Given the description of an element on the screen output the (x, y) to click on. 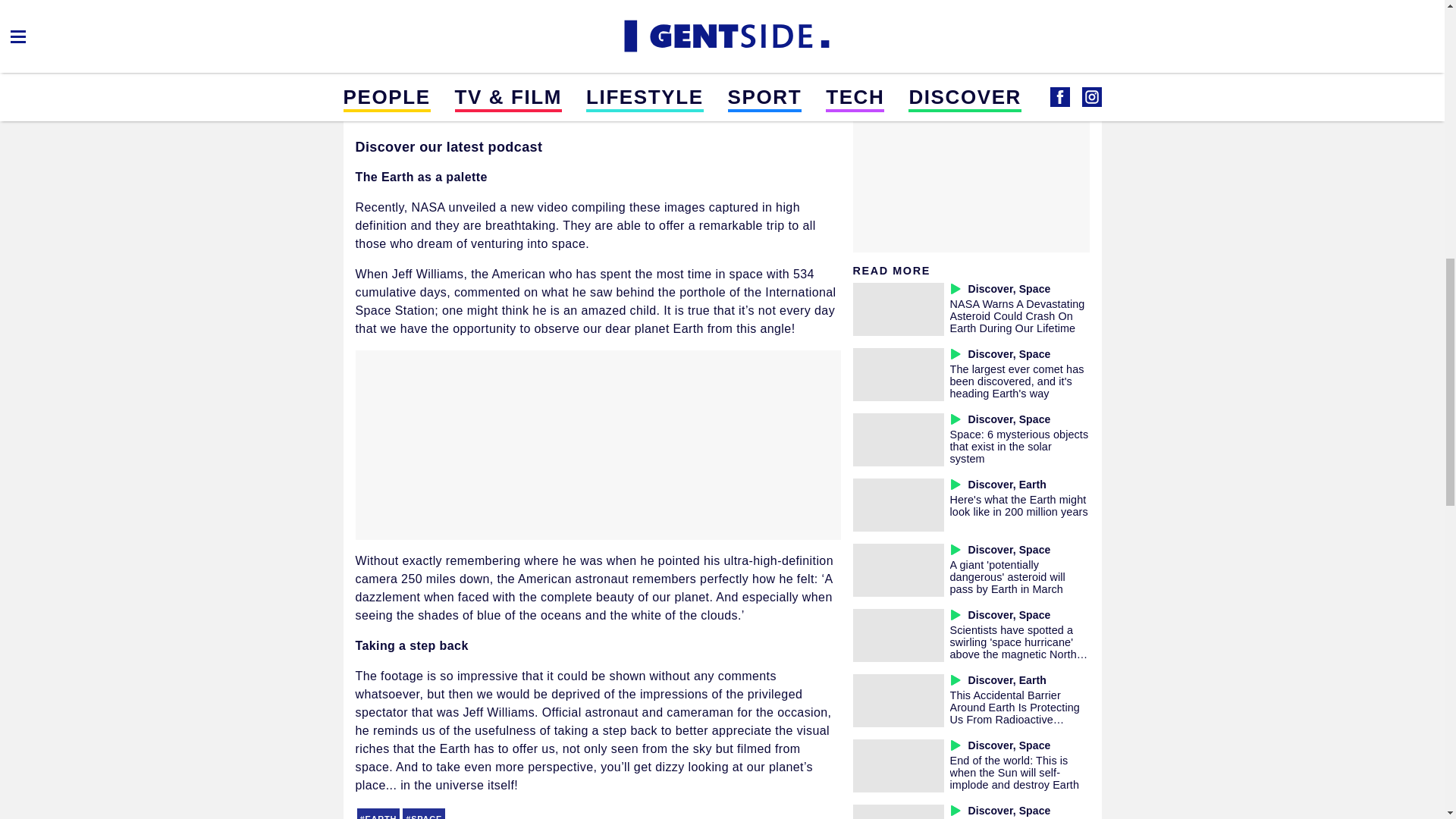
Share on Facebook (378, 11)
SPACE (424, 813)
Share on Mail (415, 11)
EARTH (377, 813)
Pin it (524, 11)
Here's what the Earth might look like in 200 million years (1018, 505)
Tweeter (488, 11)
